Given the description of an element on the screen output the (x, y) to click on. 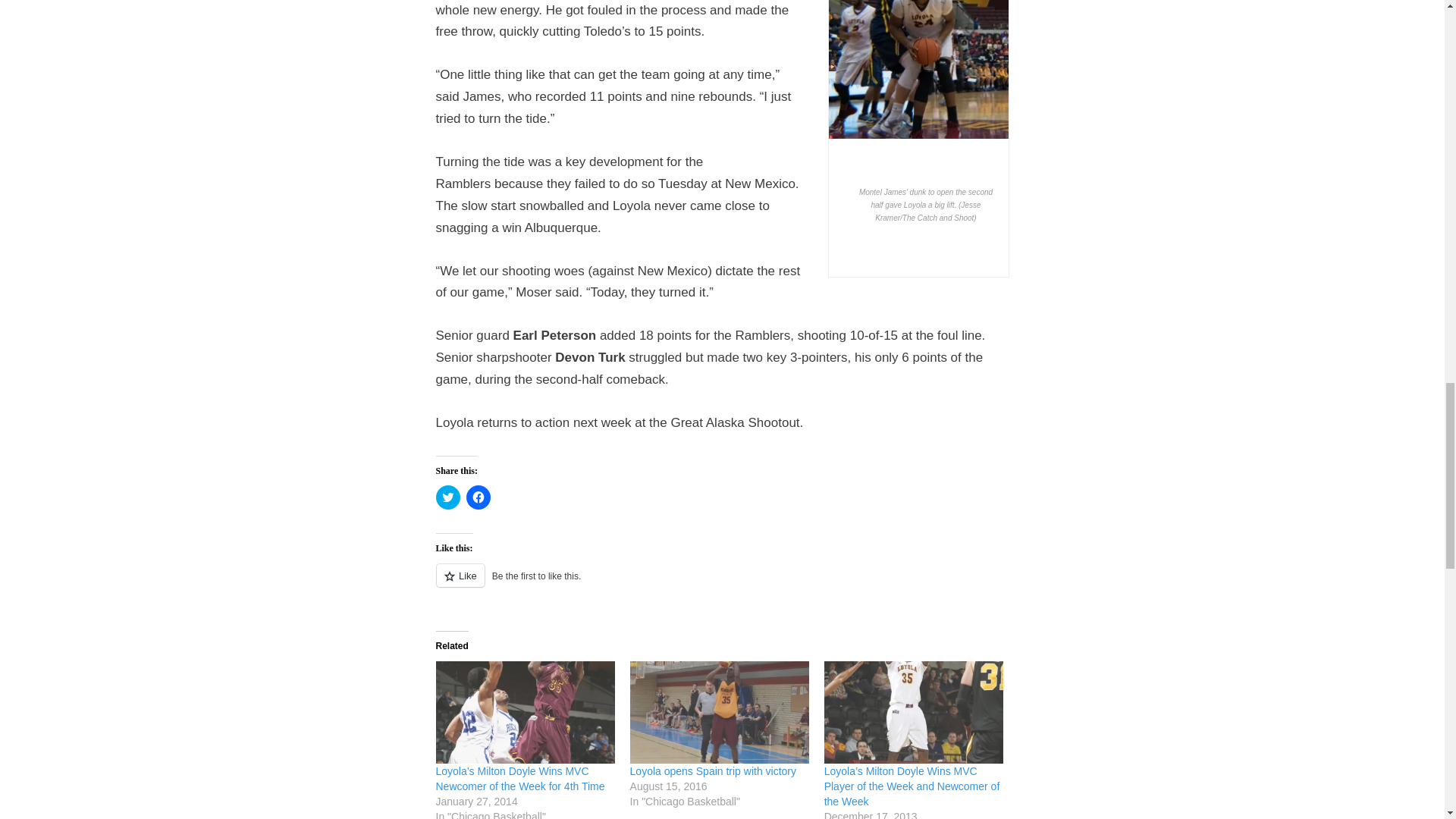
Click to share on Facebook (477, 497)
Loyola opens Spain trip with victory (713, 770)
Loyola opens Spain trip with victory (713, 770)
Click to share on Twitter (447, 497)
Loyola opens Spain trip with victory (719, 711)
Like or Reblog (722, 584)
